Given the description of an element on the screen output the (x, y) to click on. 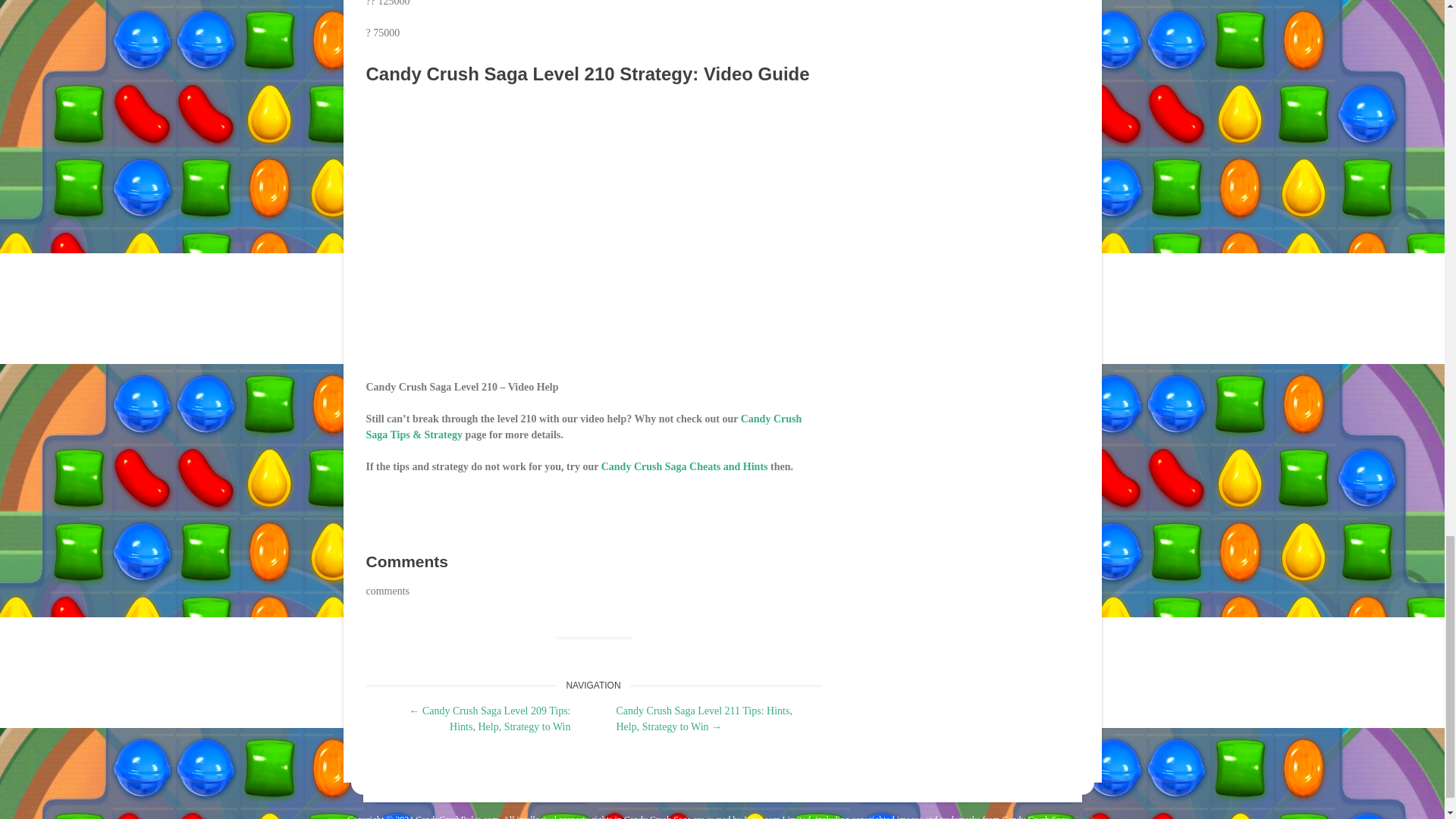
Candy Crush Tips and Strategy (583, 426)
Candy Crush Saga Cheats and Hints (684, 466)
Candy Crush Saga Cheats and Hints (684, 466)
